Given the description of an element on the screen output the (x, y) to click on. 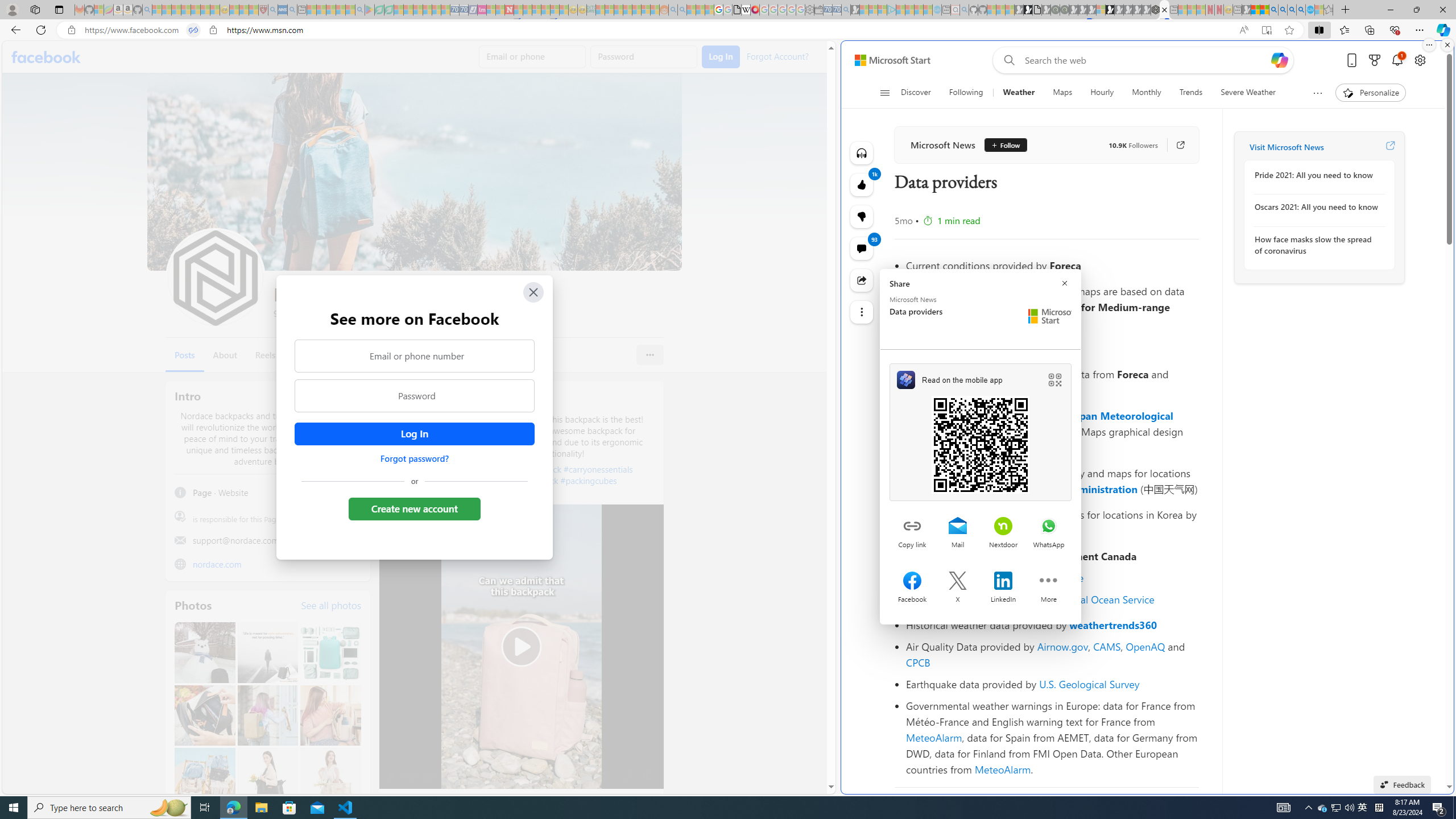
1k Like (861, 184)
Maps (1062, 92)
Favorites - Sleeping (1328, 9)
Share on whatsapp (1048, 526)
Copy link (911, 526)
Sign in to your account - Sleeping (1100, 9)
